Given the description of an element on the screen output the (x, y) to click on. 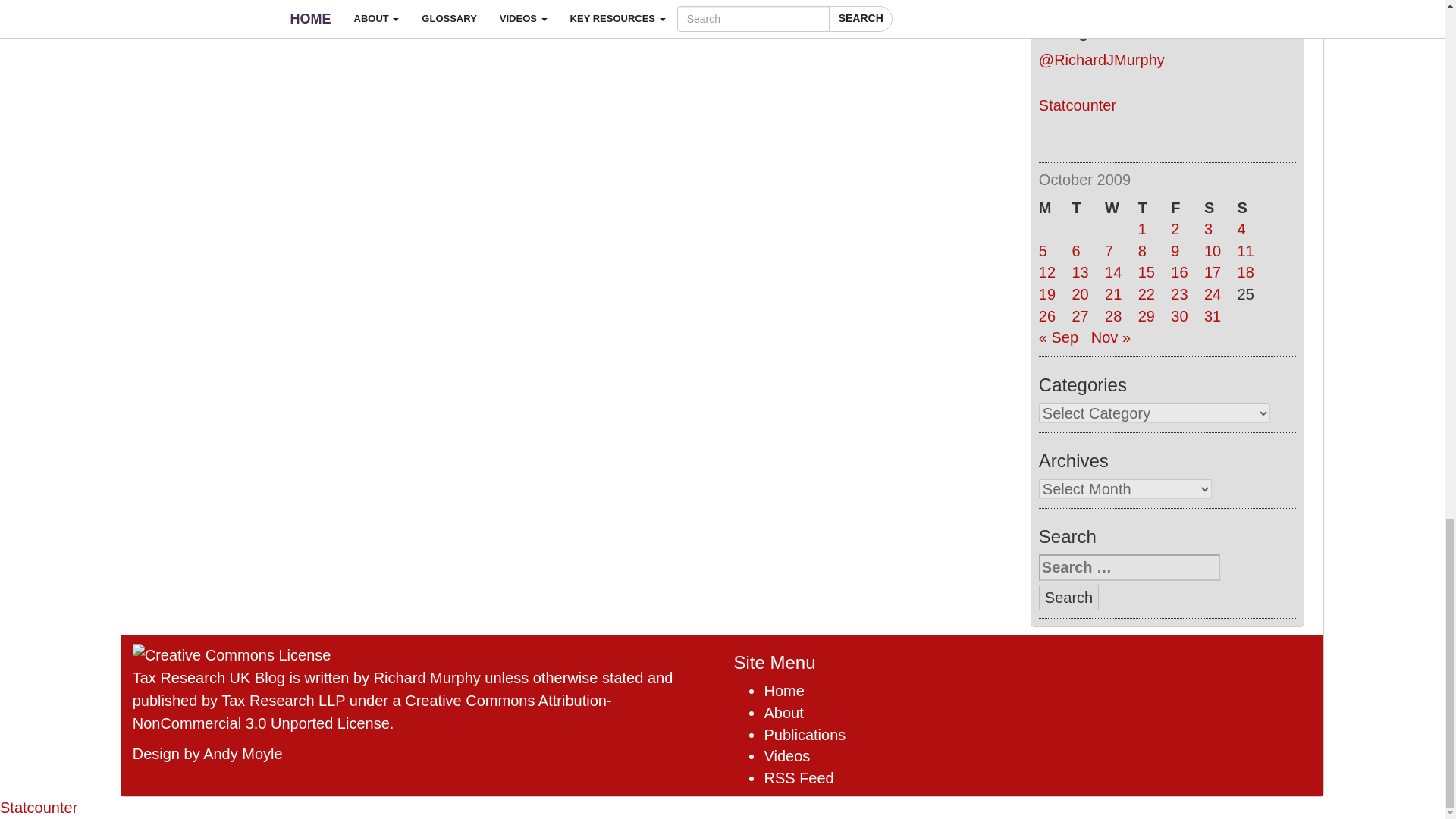
Statcounter (1077, 105)
Search (1069, 597)
Search (1069, 597)
